Given the description of an element on the screen output the (x, y) to click on. 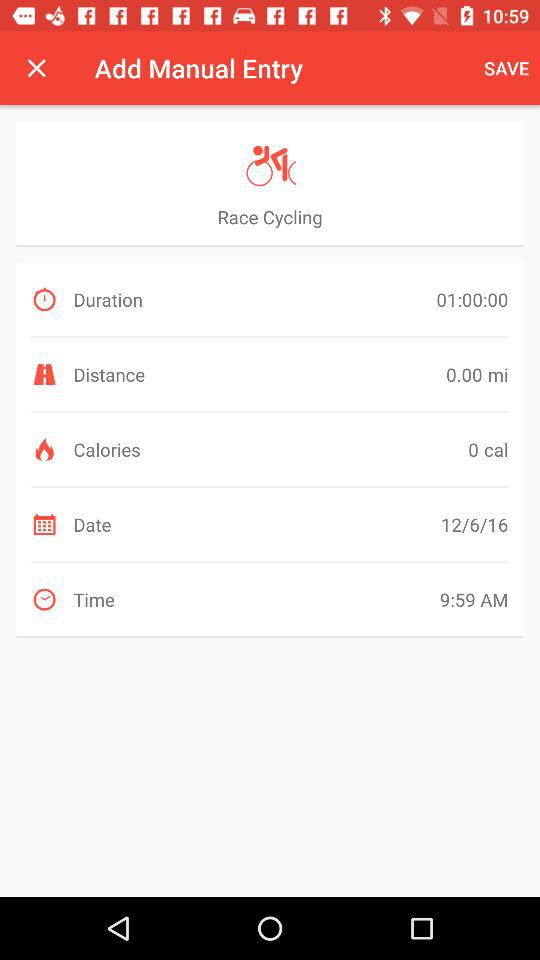
open icon to the left of the add manual entry (36, 68)
